Given the description of an element on the screen output the (x, y) to click on. 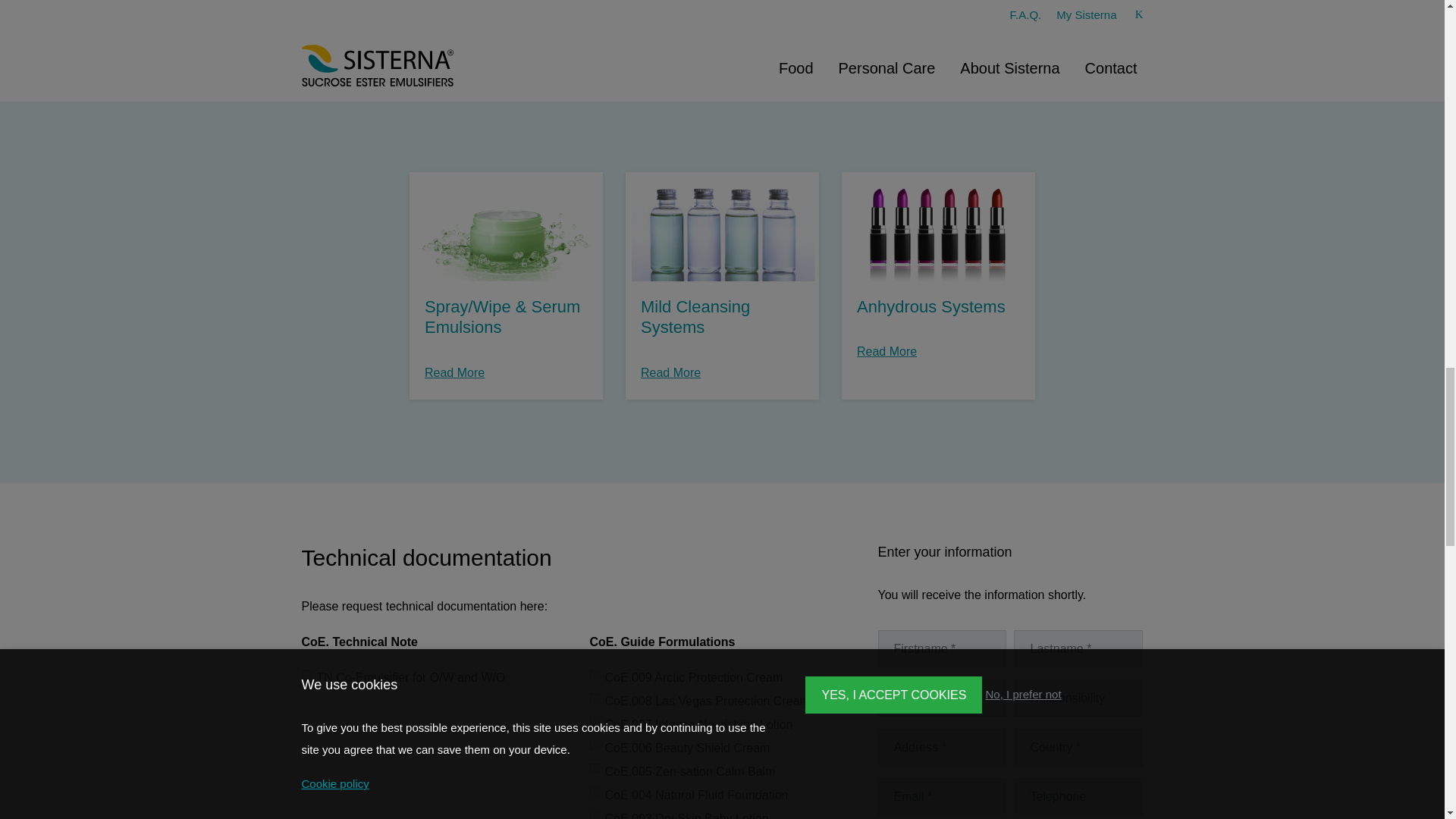
Read More (830, 44)
yes (594, 768)
yes (594, 814)
yes (594, 791)
Read More (398, 44)
Read More (613, 44)
yes (594, 697)
yes (594, 674)
yes (594, 745)
yes (306, 674)
yes (594, 721)
Read More (1045, 44)
